Given the description of an element on the screen output the (x, y) to click on. 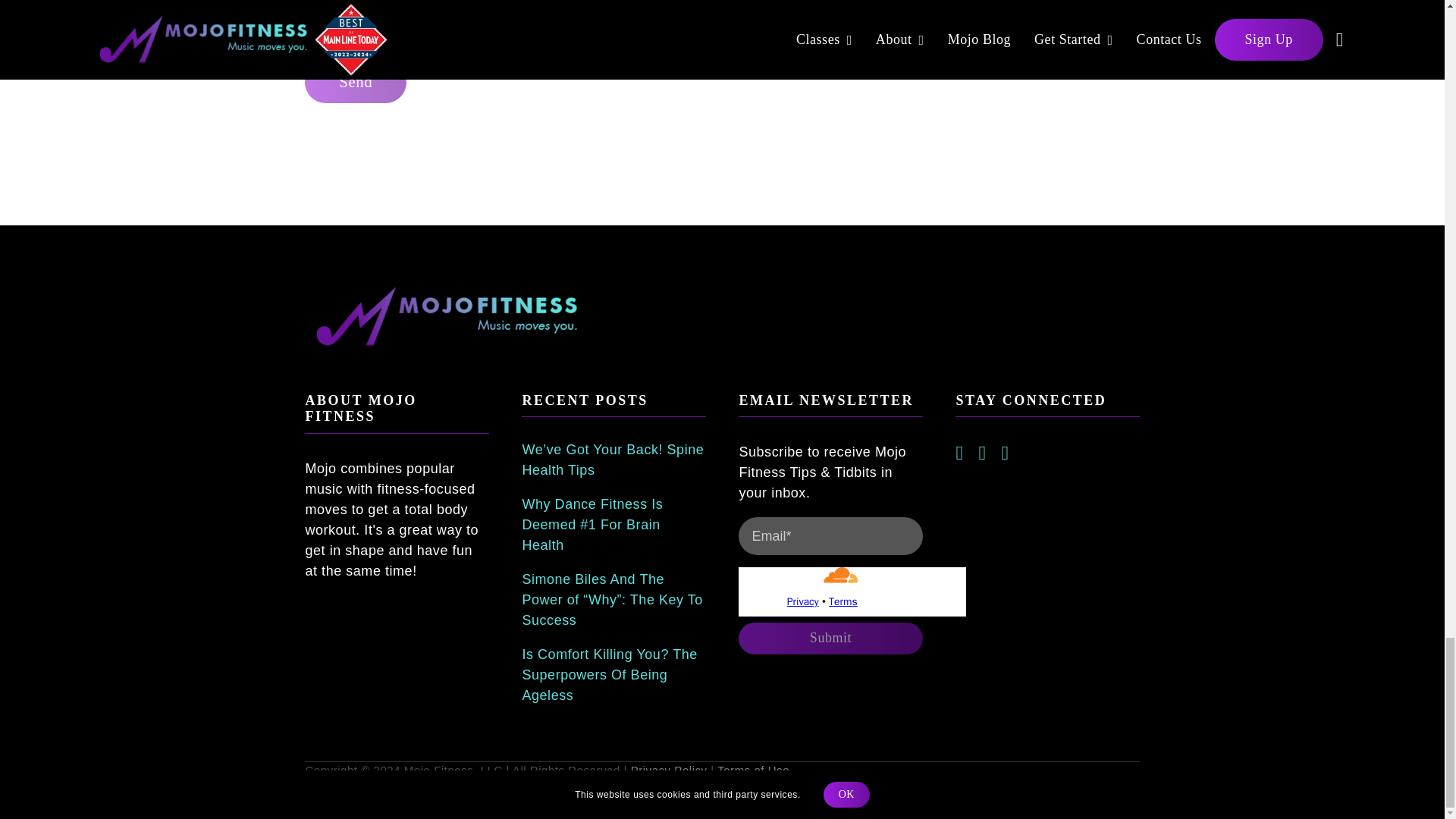
1 (312, 34)
Send (355, 82)
Submit (829, 638)
